Given the description of an element on the screen output the (x, y) to click on. 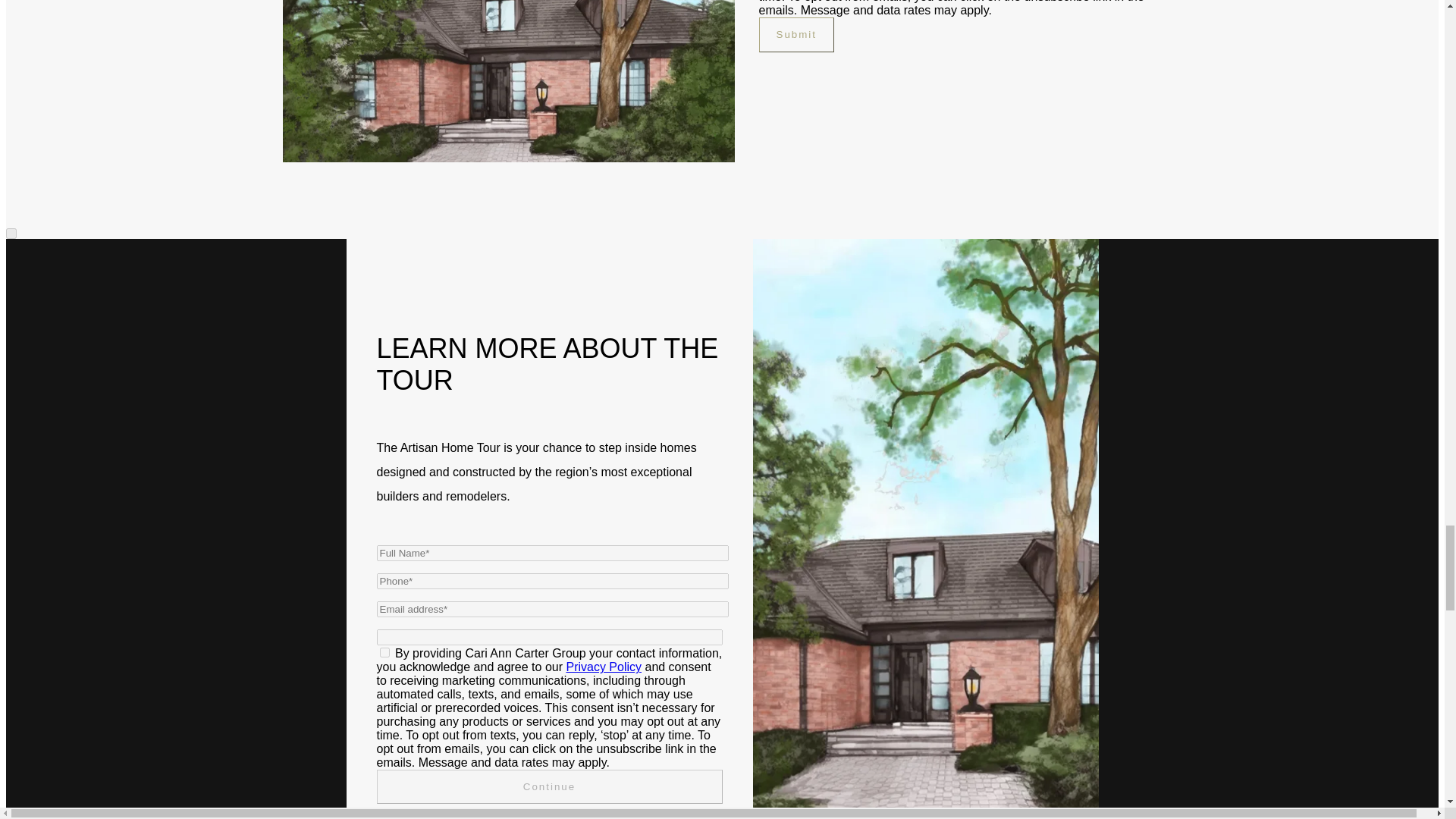
on (383, 652)
